Given the description of an element on the screen output the (x, y) to click on. 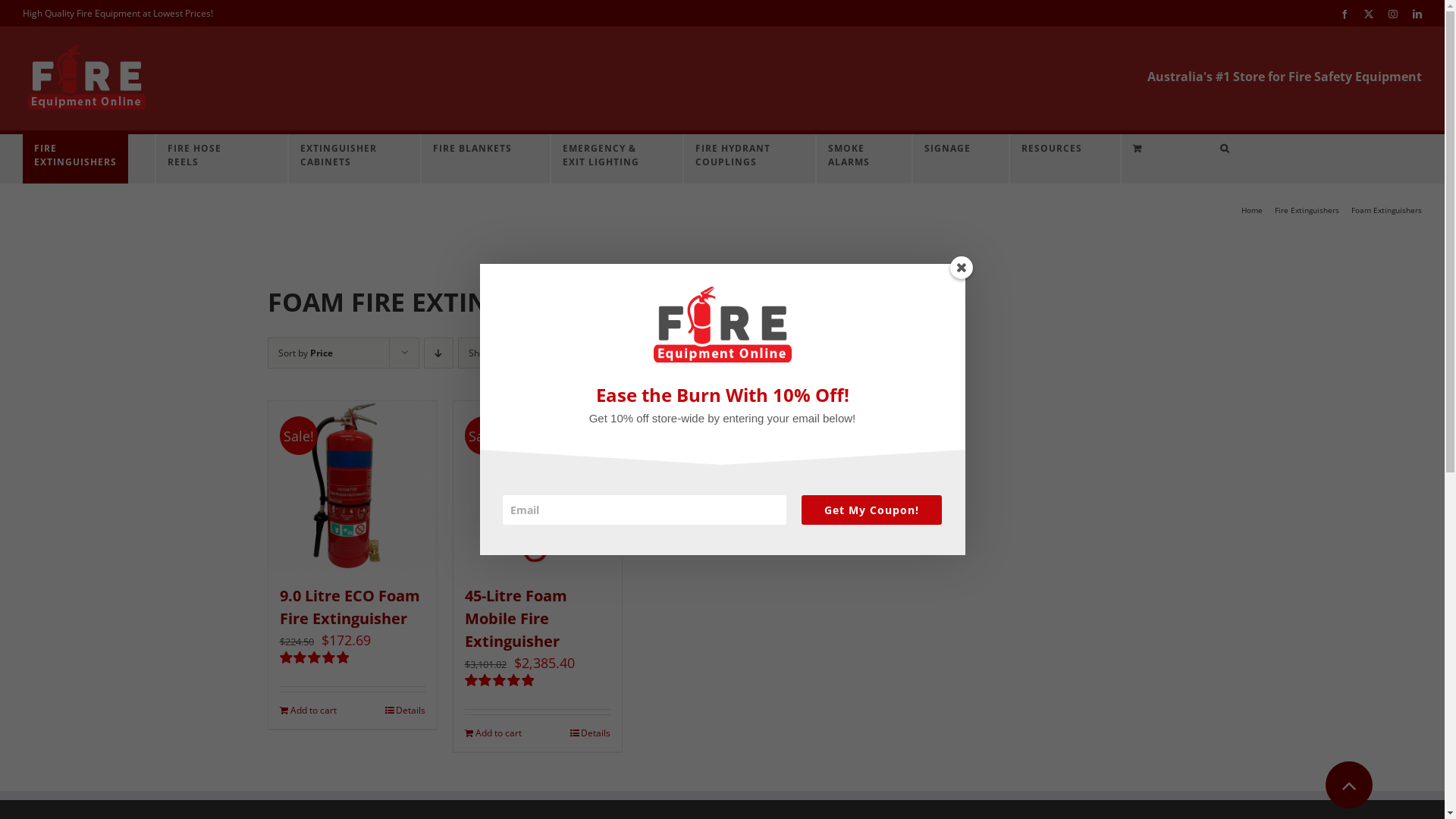
SIGNAGE Element type: text (947, 158)
RESOURCES Element type: text (1051, 158)
FIRE BLANKETS Element type: text (472, 158)
Twitter Element type: text (1368, 13)
Home Element type: text (1251, 209)
Get My Coupon! Element type: text (871, 509)
Details Element type: text (590, 733)
EMERGENCY & EXIT LIGHTING Element type: text (603, 158)
Sale! Element type: text (352, 485)
45-Litre Foam Mobile Fire Extinguisher Element type: text (515, 618)
Facebook Element type: text (1344, 13)
FIRE HOSE REELS Element type: text (208, 158)
LinkedIn Element type: text (1416, 13)
Fire Extinguishers Element type: text (1306, 209)
Show 40 Products Element type: text (507, 352)
SMOKE
ALARMS Element type: text (850, 158)
Add to cart Element type: text (492, 733)
Sort by Price Element type: text (304, 352)
Go to Top Element type: text (1348, 784)
FIRE HYDRANT COUPLINGS Element type: text (736, 158)
9.0 Litre ECO Foam Fire Extinguisher Element type: text (349, 606)
EXTINGUISHER CABINETS Element type: text (340, 158)
Instagram Element type: text (1392, 13)
Sale! Element type: text (537, 485)
FIRE EXTINGUISHERS Element type: text (75, 158)
Search Element type: hover (1238, 158)
Add to cart Element type: text (307, 710)
Details Element type: text (405, 710)
